Given the description of an element on the screen output the (x, y) to click on. 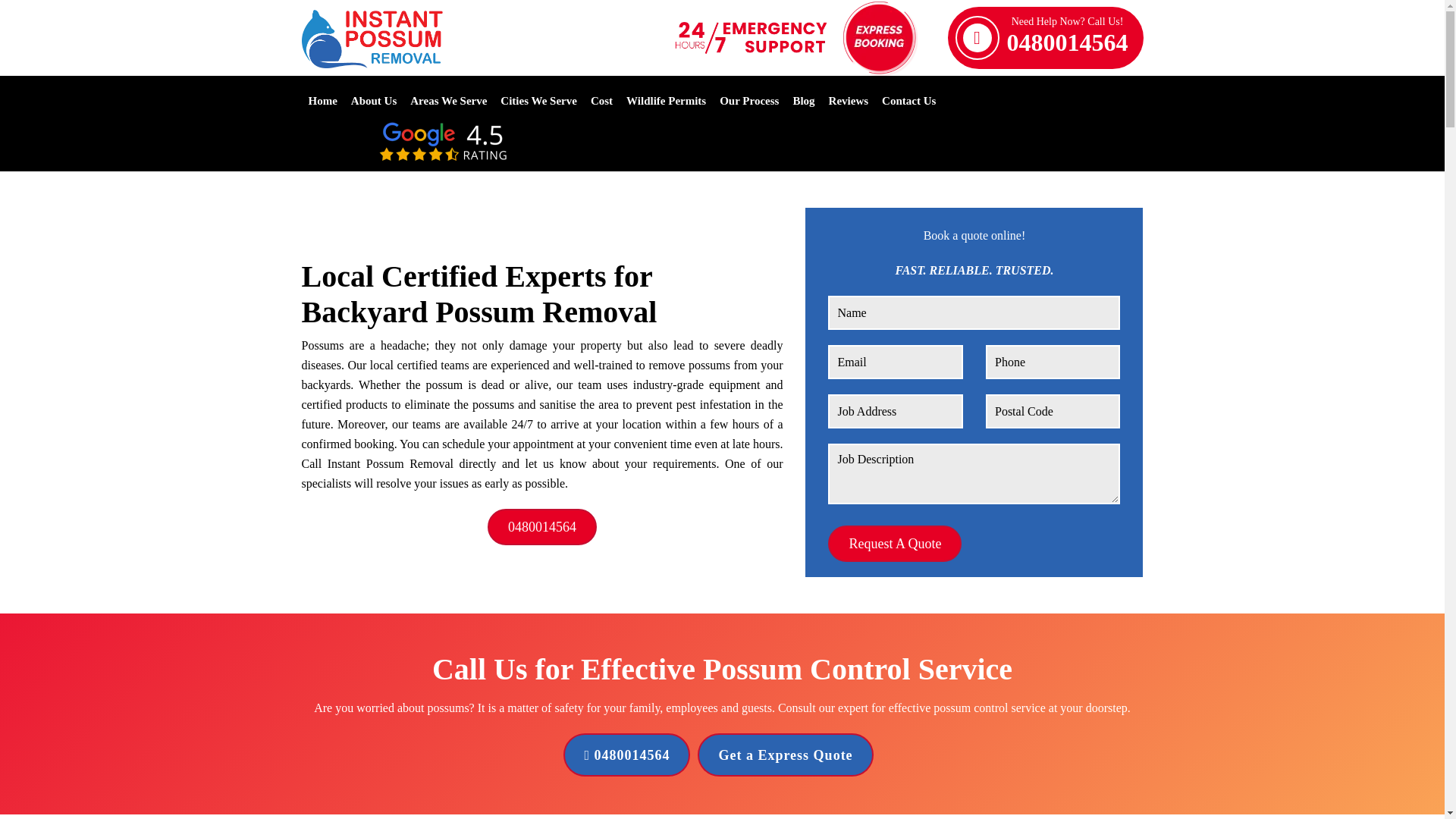
0480014564 (626, 754)
Areas We Serve (448, 100)
Blog (802, 100)
Home (321, 100)
Our Process (748, 100)
Contact Us (909, 100)
0480014564 (541, 526)
Request A Quote (1067, 37)
Cost (894, 543)
Request A Quote (601, 100)
Cities We Serve (894, 543)
Reviews (538, 100)
About Us (848, 100)
Wildlife Permits (373, 100)
